Given the description of an element on the screen output the (x, y) to click on. 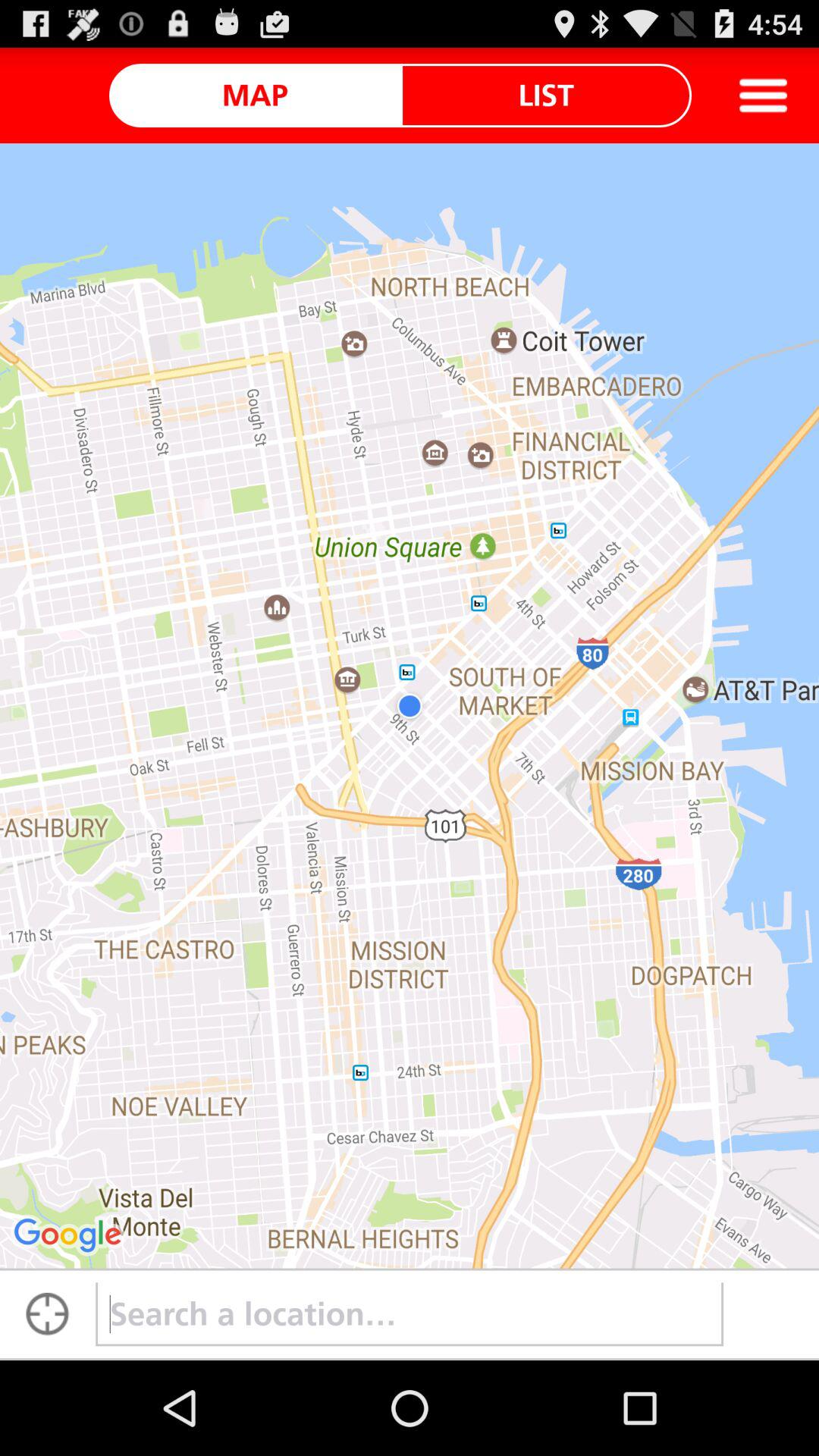
input location data (409, 1314)
